Given the description of an element on the screen output the (x, y) to click on. 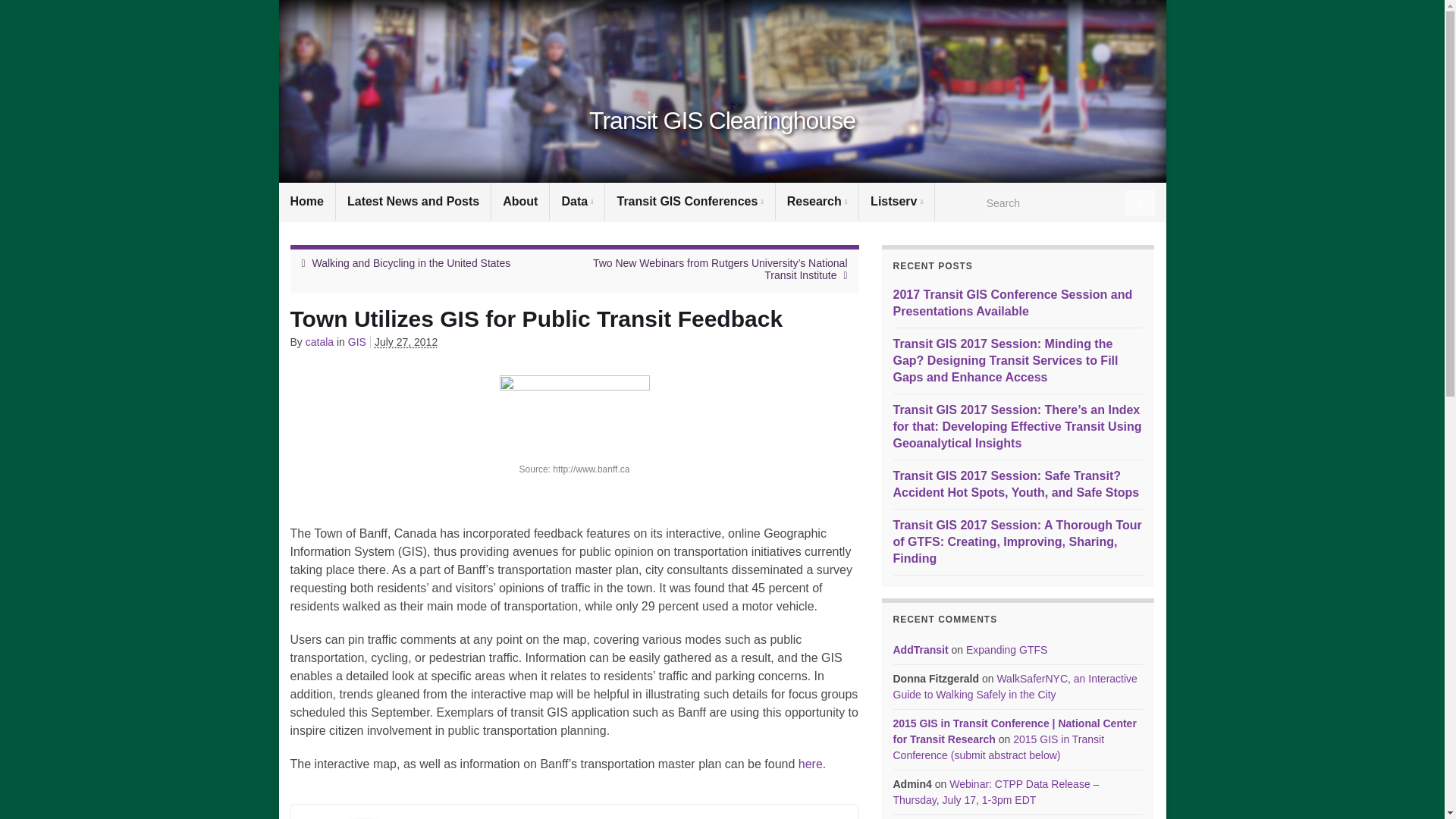
Town of Banff (574, 415)
Home (306, 201)
Research (817, 201)
2012-07-27T12:18:25-05:00 (406, 341)
Banff Maps (809, 763)
About (520, 201)
Latest News and Posts (413, 201)
Transit GIS Clearinghouse (722, 120)
Go back to the front page (722, 120)
Data (577, 201)
Transit GIS Conferences (689, 201)
